Given the description of an element on the screen output the (x, y) to click on. 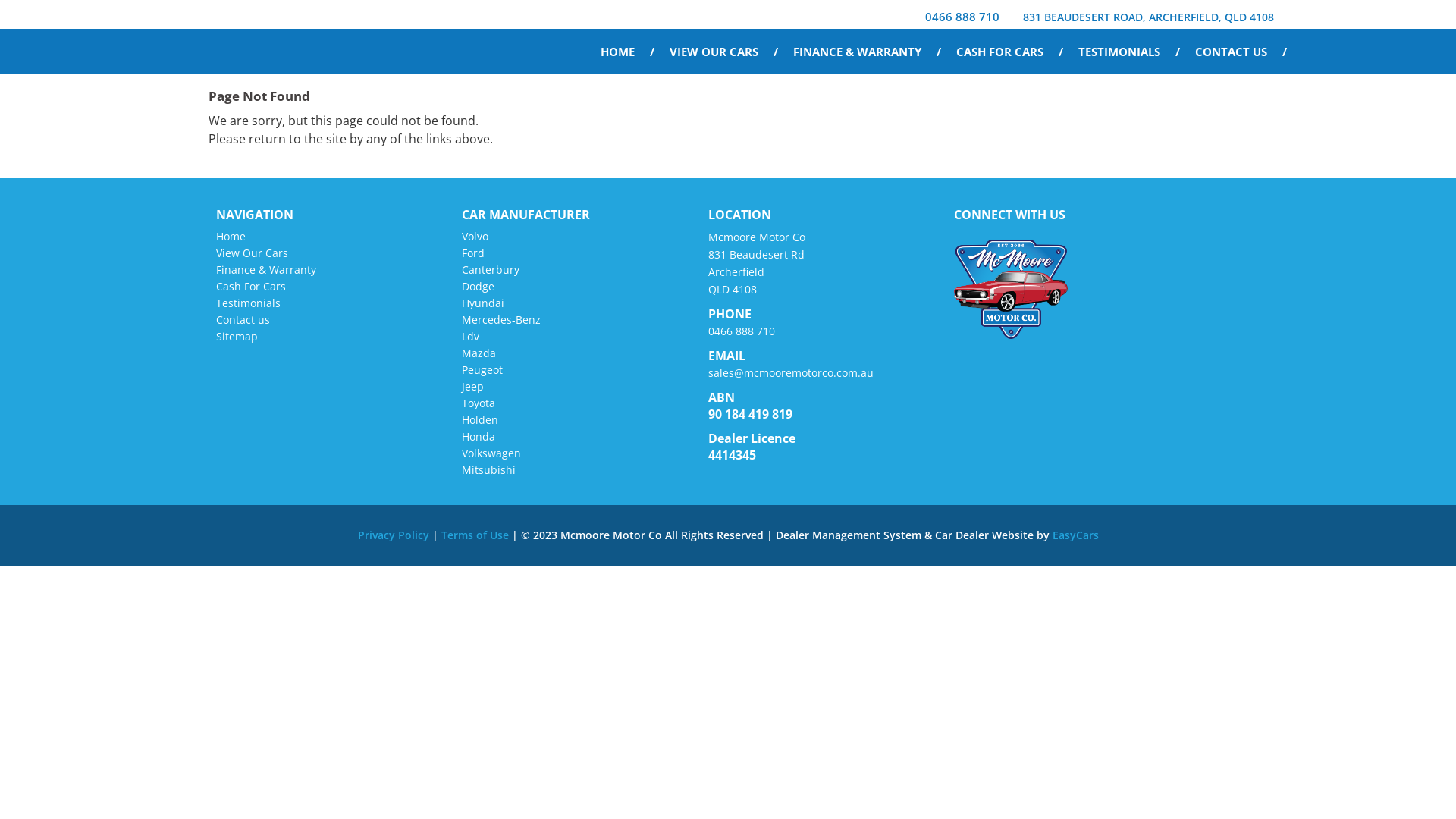
FINANCE & WARRANTY Element type: text (866, 51)
Mitsubishi Element type: text (488, 469)
Mazda Element type: text (478, 352)
Finance & Warranty Element type: text (266, 269)
Ldv Element type: text (470, 336)
Jeep Element type: text (472, 386)
Sitemap Element type: text (236, 336)
Volkswagen Element type: text (490, 452)
Toyota Element type: text (478, 402)
Peugeot Element type: text (481, 369)
VIEW OUR CARS Element type: text (723, 51)
Privacy Policy Element type: text (394, 534)
Mercedes-Benz Element type: text (500, 319)
Hyundai Element type: text (482, 302)
sales@mcmooremotorco.com.au Element type: text (790, 372)
Ford Element type: text (472, 252)
Terms of Use Element type: text (476, 534)
Canterbury Element type: text (490, 269)
0466 888 710 Element type: text (741, 330)
831 BEAUDESERT ROAD, ARCHERFIELD, QLD 4108 Element type: text (1146, 15)
Holden Element type: text (479, 419)
Testimonials Element type: text (248, 302)
EasyCars Element type: text (1075, 534)
0466 888 710 Element type: text (958, 15)
Honda Element type: text (478, 436)
TESTIMONIALS Element type: text (1129, 51)
Cash For Cars Element type: text (250, 286)
View Our Cars Element type: text (252, 252)
CASH FOR CARS Element type: text (1009, 51)
CONTACT US Element type: text (1240, 51)
Home Element type: text (230, 236)
Volvo Element type: text (474, 236)
Dodge Element type: text (477, 286)
Contact us Element type: text (242, 319)
HOME Element type: text (627, 51)
